Given the description of an element on the screen output the (x, y) to click on. 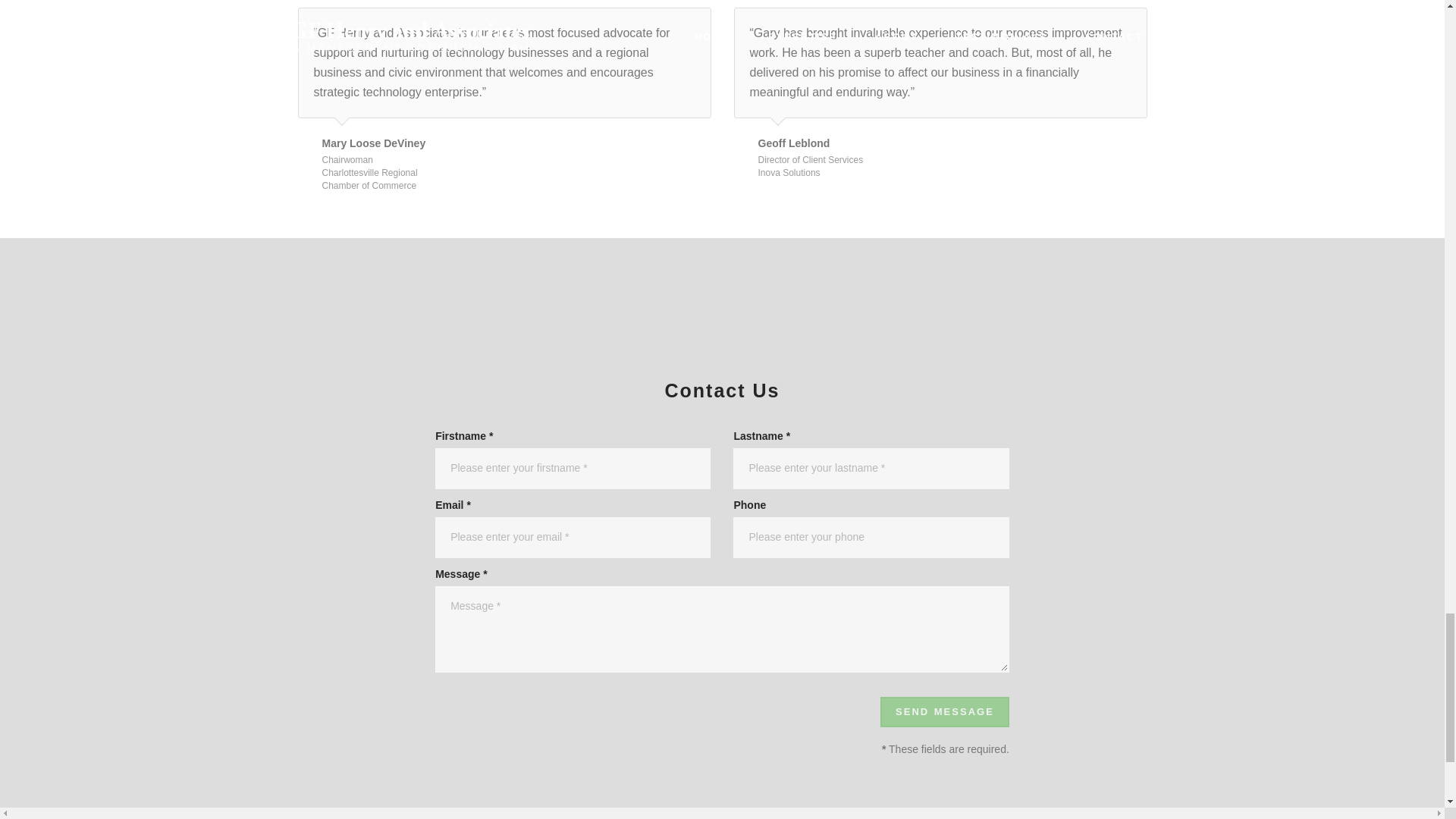
SEND MESSAGE (944, 712)
SEND MESSAGE (944, 712)
